Given the description of an element on the screen output the (x, y) to click on. 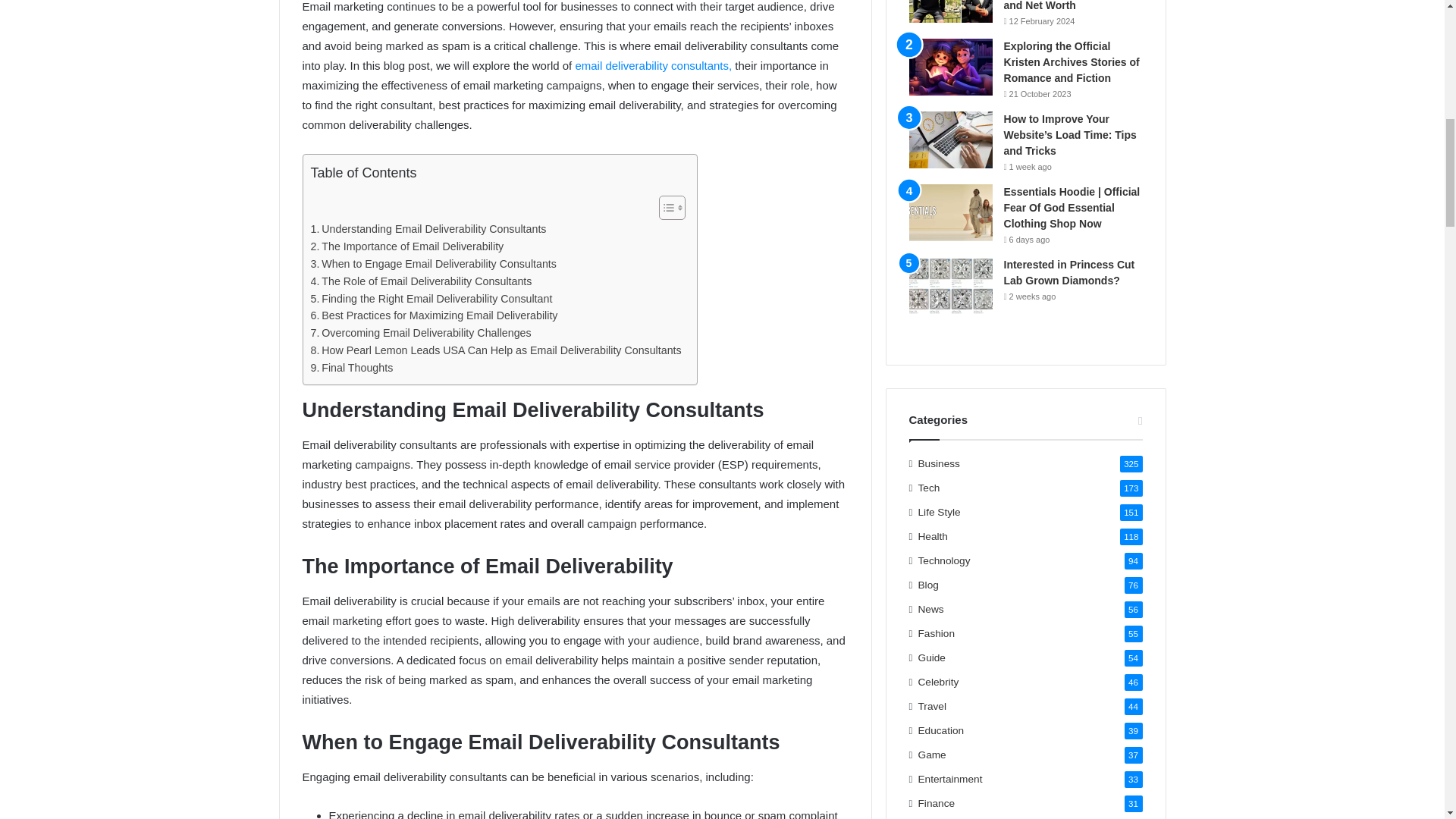
When to Engage Email Deliverability Consultants (433, 263)
Best Practices for Maximizing Email Deliverability (434, 315)
Overcoming Email Deliverability Challenges (421, 333)
Final Thoughts (352, 367)
The Role of Email Deliverability Consultants (421, 281)
Finding the Right Email Deliverability Consultant (432, 298)
email deliverability consultants, (653, 65)
Understanding Email Deliverability Consultants (429, 229)
Finding the Right Email Deliverability Consultant (432, 298)
The Importance of Email Deliverability (407, 246)
When to Engage Email Deliverability Consultants (433, 263)
Best Practices for Maximizing Email Deliverability (434, 315)
Final Thoughts (352, 367)
The Importance of Email Deliverability (407, 246)
